Given the description of an element on the screen output the (x, y) to click on. 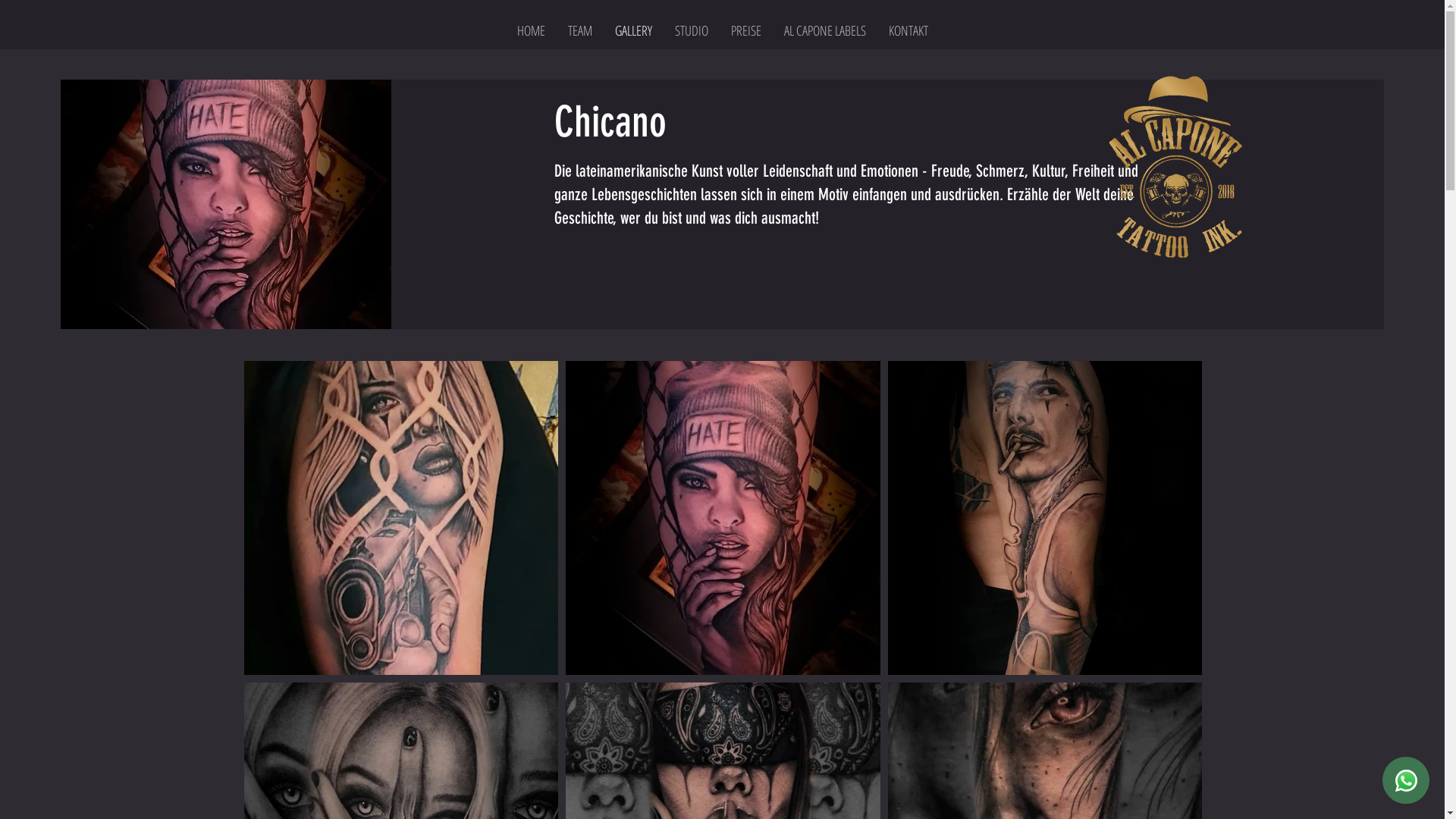
GALLERY Element type: text (633, 30)
AL CAPONE LABELS Element type: text (823, 30)
PREISE Element type: text (744, 30)
KONTAKT Element type: text (907, 30)
STUDIO Element type: text (690, 30)
HOME Element type: text (530, 30)
TEAM Element type: text (579, 30)
Premium Tattoo Label Element type: hover (1177, 167)
